Given the description of an element on the screen output the (x, y) to click on. 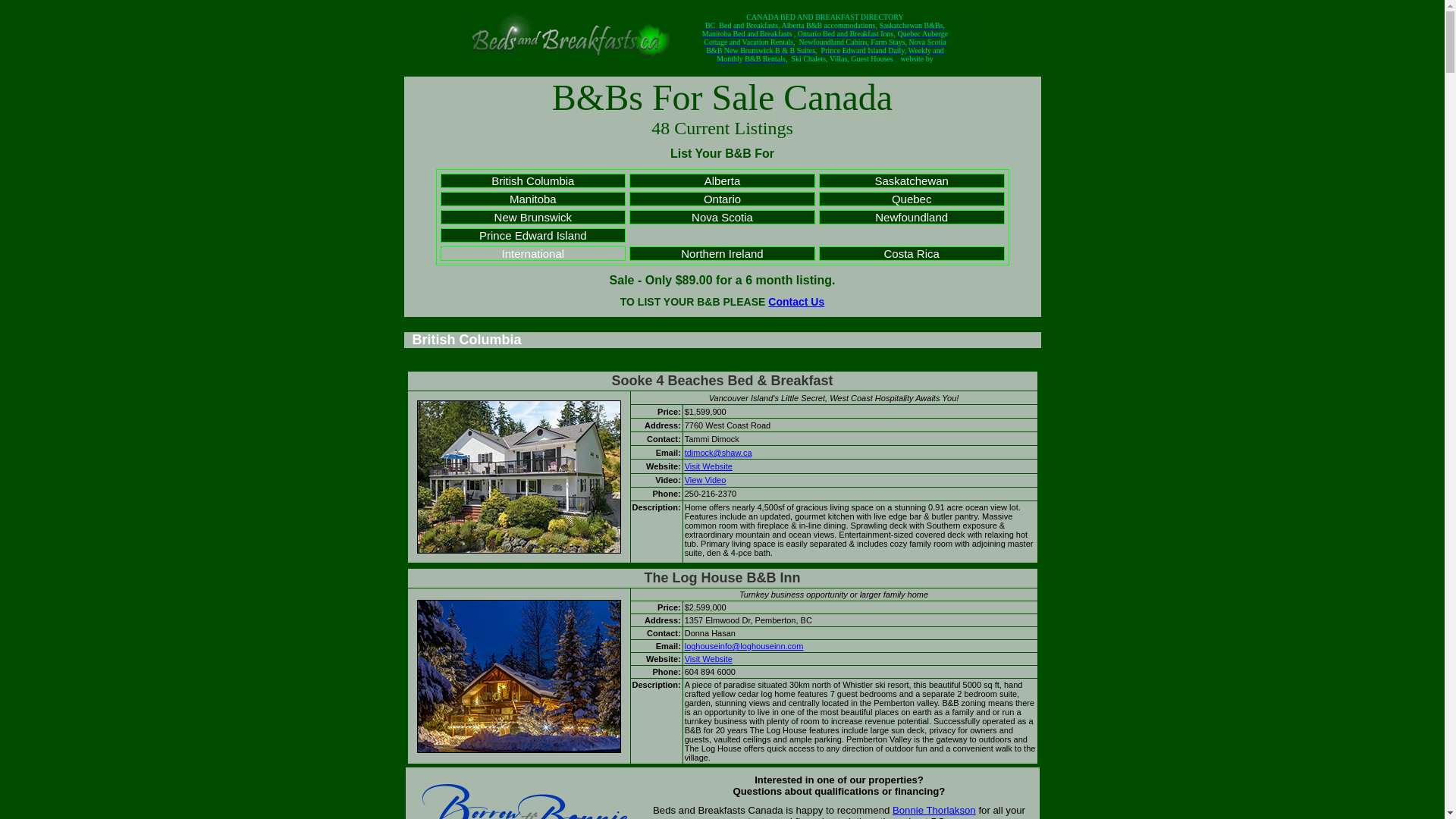
Prince Edward Island Daily, Weekly and Monthly B&B Rentals Element type: text (829, 53)
BC  Bed and Breakfasts Element type: text (741, 23)
British Columbia Element type: text (532, 180)
Nova Scotia Element type: text (722, 216)
Saskatchewan B&Bs, Element type: text (911, 23)
tdimock@shaw.ca Element type: text (718, 452)
Nova Scotia B&B Element type: text (826, 44)
Quebec Element type: text (911, 198)
Quebec Auberge Cottage and Vacation Rentals Element type: text (825, 37)
Bonnie Thorlakson Element type: text (933, 809)
loghouseinfo@loghouseinn.com Element type: text (743, 645)
Costa Rica Element type: text (910, 253)
New Brunswick Element type: text (533, 216)
Alberta B&B accommodations Element type: text (828, 23)
Ontario Bed and Breakfast Element type: text (838, 32)
British Columbia Element type: text (466, 339)
Northern Ireland Element type: text (721, 253)
Manitoba Element type: text (532, 198)
Prince Edward Island Element type: text (532, 235)
Visit Website Element type: text (708, 465)
Contact Us Element type: text (796, 301)
Alberta Element type: text (722, 180)
New Brunswick B & B Suites, Element type: text (770, 49)
Saskatchewan Element type: text (911, 180)
View Video Element type: text (705, 479)
Ontario Element type: text (721, 198)
Newfoundland Element type: text (911, 216)
Manitoba Bed and Breakfasts Element type: text (747, 32)
Newfoundland Cabins, Farm Stays Element type: text (852, 40)
Visit Website Element type: text (708, 658)
